Given the description of an element on the screen output the (x, y) to click on. 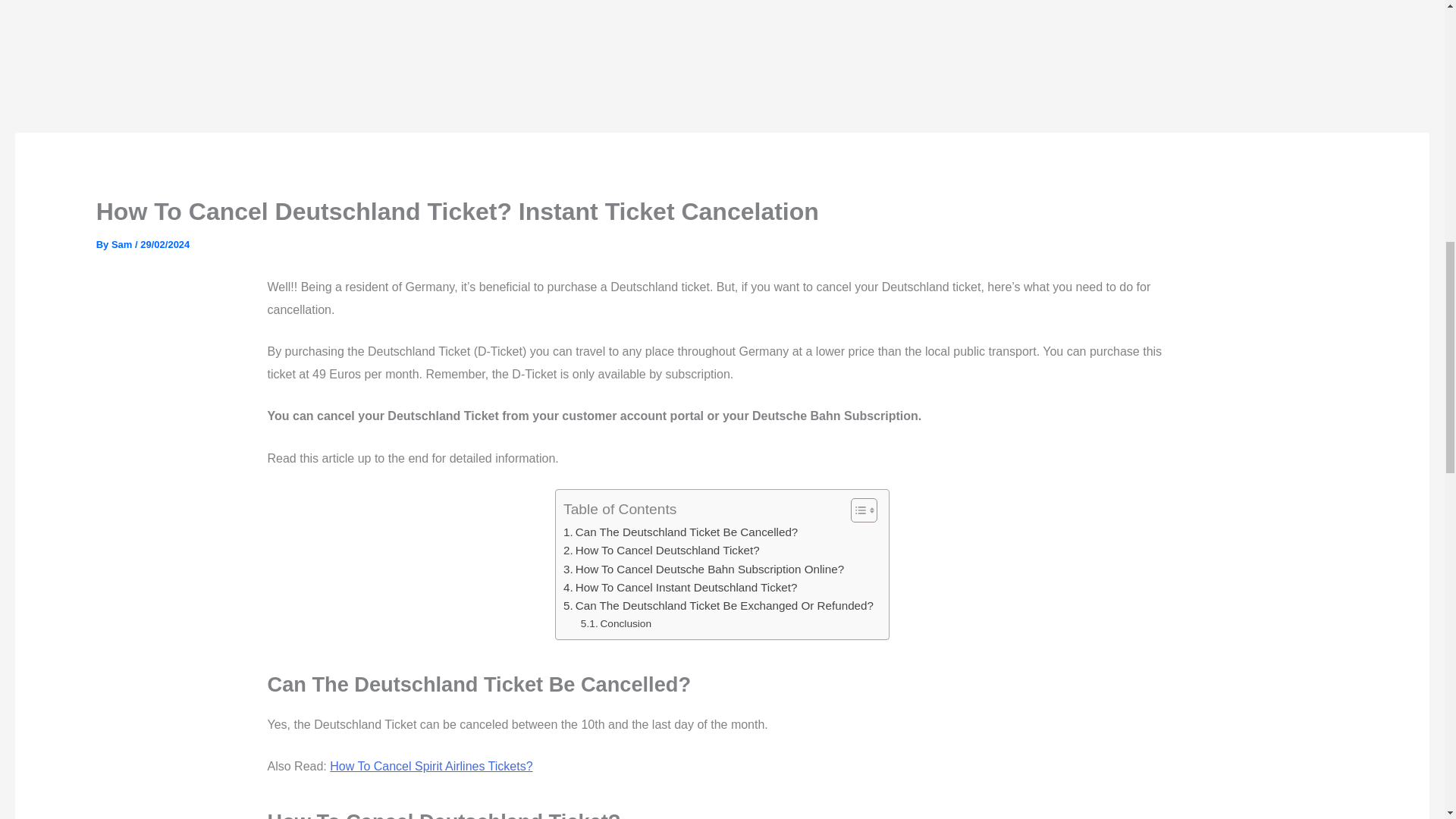
How To Cancel Deutschland Ticket? (661, 550)
How To Cancel Instant Deutschland Ticket? (679, 587)
View all posts by Sam (123, 244)
Can The Deutschland Ticket Be Cancelled? (680, 532)
How To Cancel Deutsche Bahn Subscription Online? (703, 569)
How To Cancel Deutschland Ticket? (661, 550)
Conclusion  (616, 623)
How To Cancel Deutsche Bahn Subscription Online? (703, 569)
How To Cancel Instant Deutschland Ticket? (679, 587)
